Given the description of an element on the screen output the (x, y) to click on. 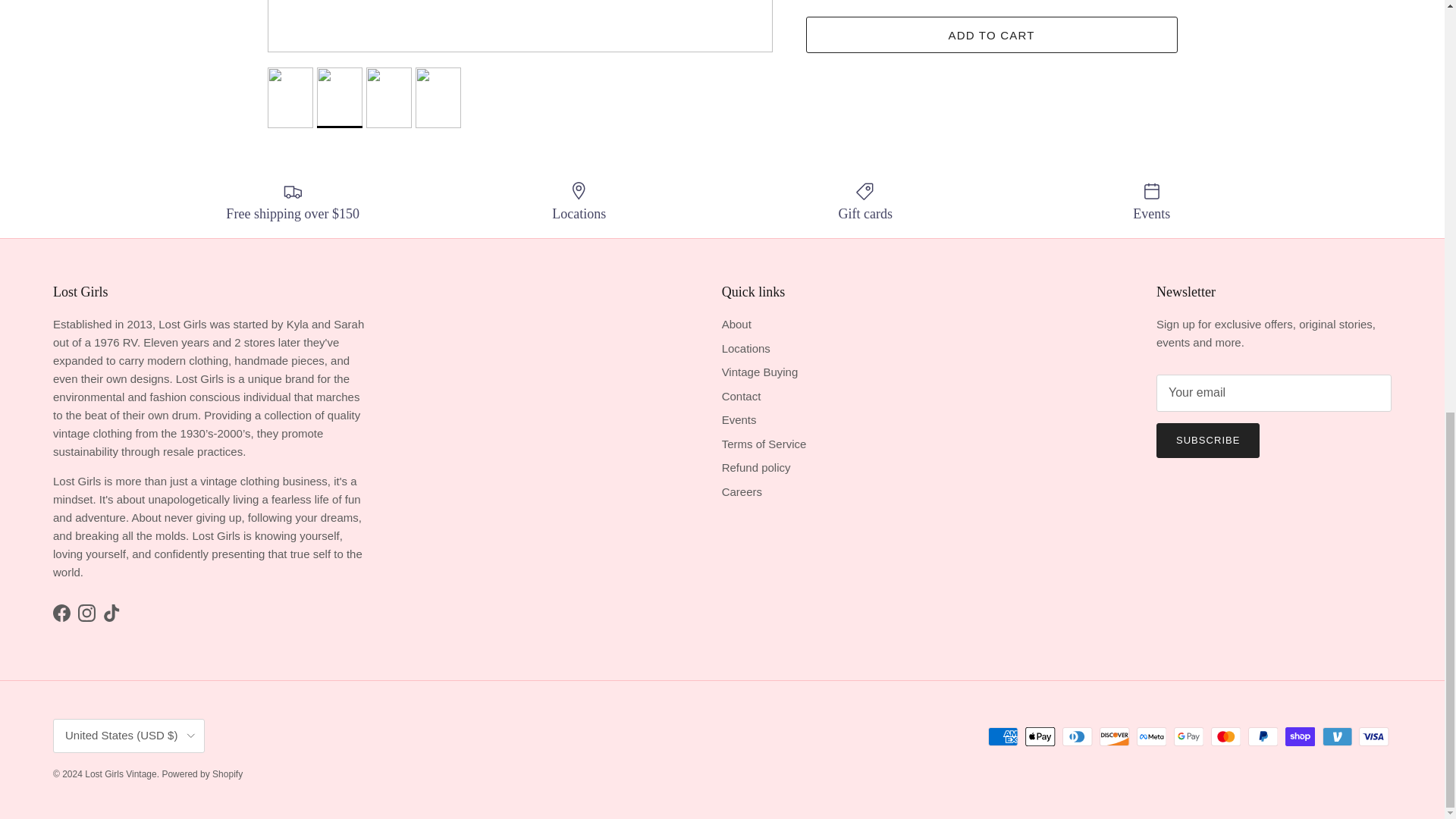
Diners Club (1077, 736)
American Express (1002, 736)
Apple Pay (1040, 736)
Lost Girls Vintage on Instagram (87, 612)
Lost Girls Vintage on TikTok (111, 612)
Lost Girls Vintage on Facebook (60, 612)
